Given the description of an element on the screen output the (x, y) to click on. 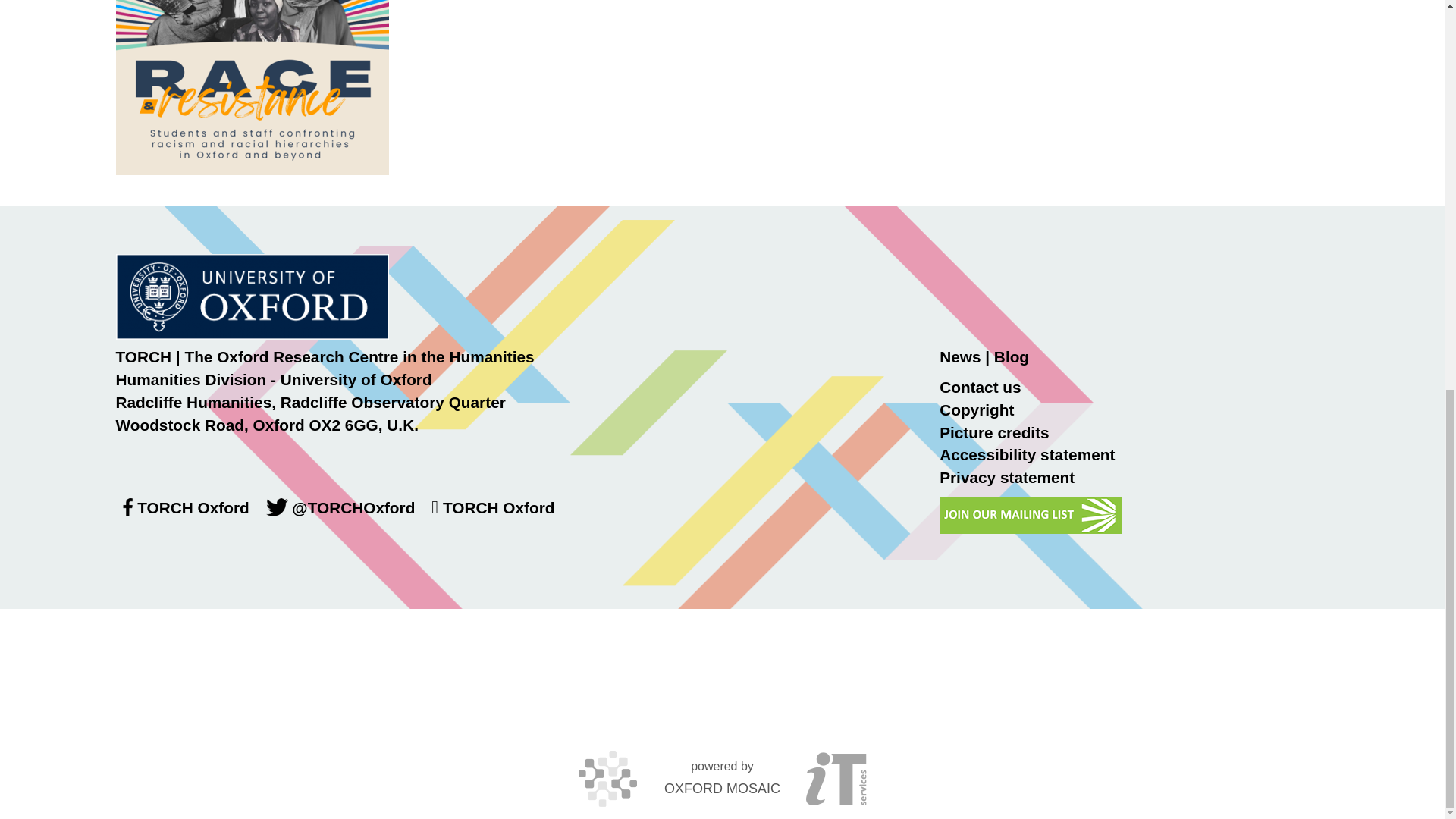
Maillist button (1030, 514)
Twitter (277, 506)
Facebook (126, 506)
R r poster website (251, 87)
Oxford logo (251, 296)
